Given the description of an element on the screen output the (x, y) to click on. 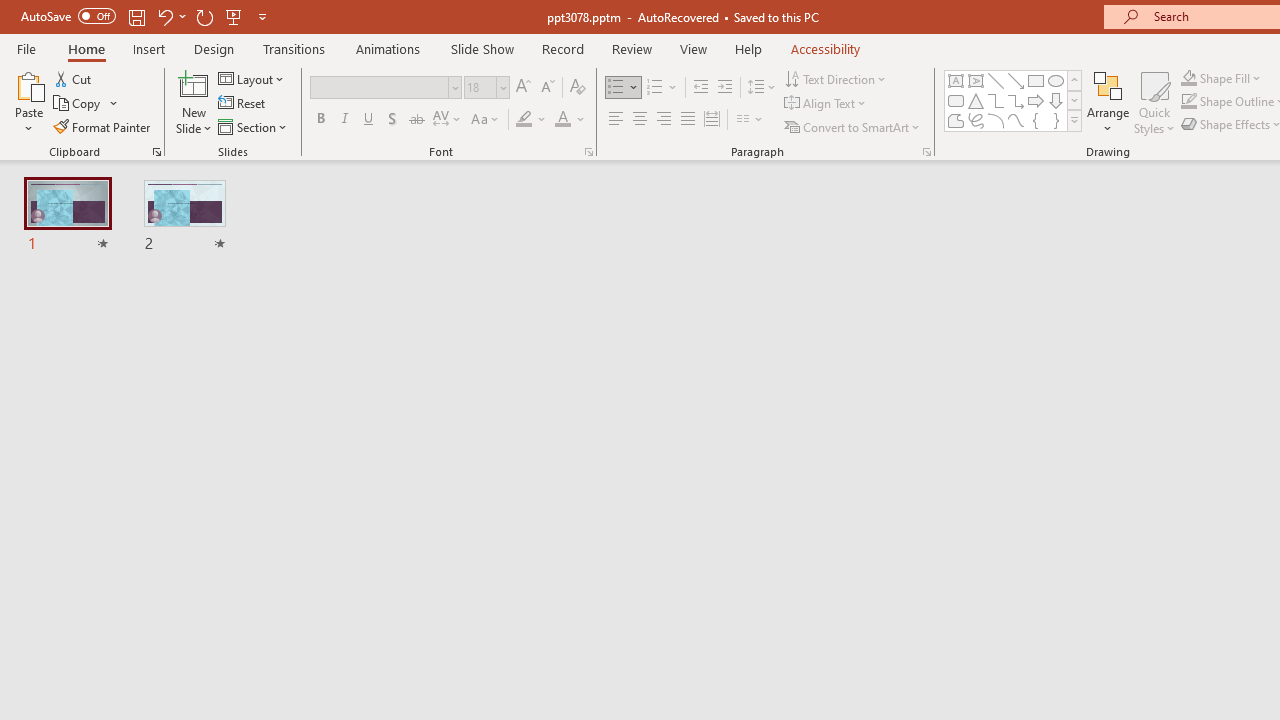
Shape Outline Green, Accent 1 (1188, 101)
